Given the description of an element on the screen output the (x, y) to click on. 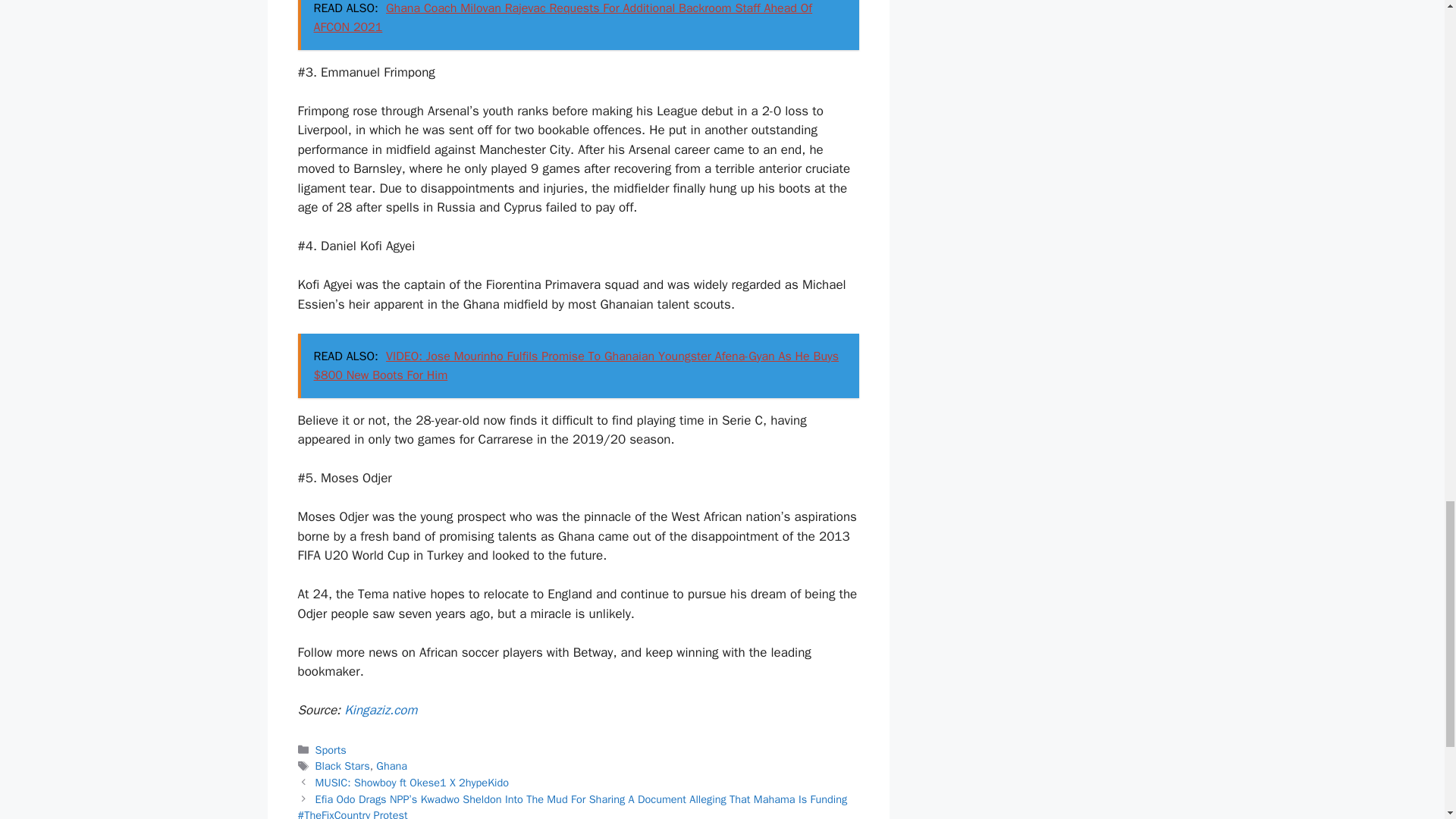
MUSIC: Showboy ft Okese1 X 2hypeKido (412, 782)
Black Stars (342, 766)
Sports (330, 749)
Kingaziz.com (379, 709)
Ghana (391, 766)
